Given the description of an element on the screen output the (x, y) to click on. 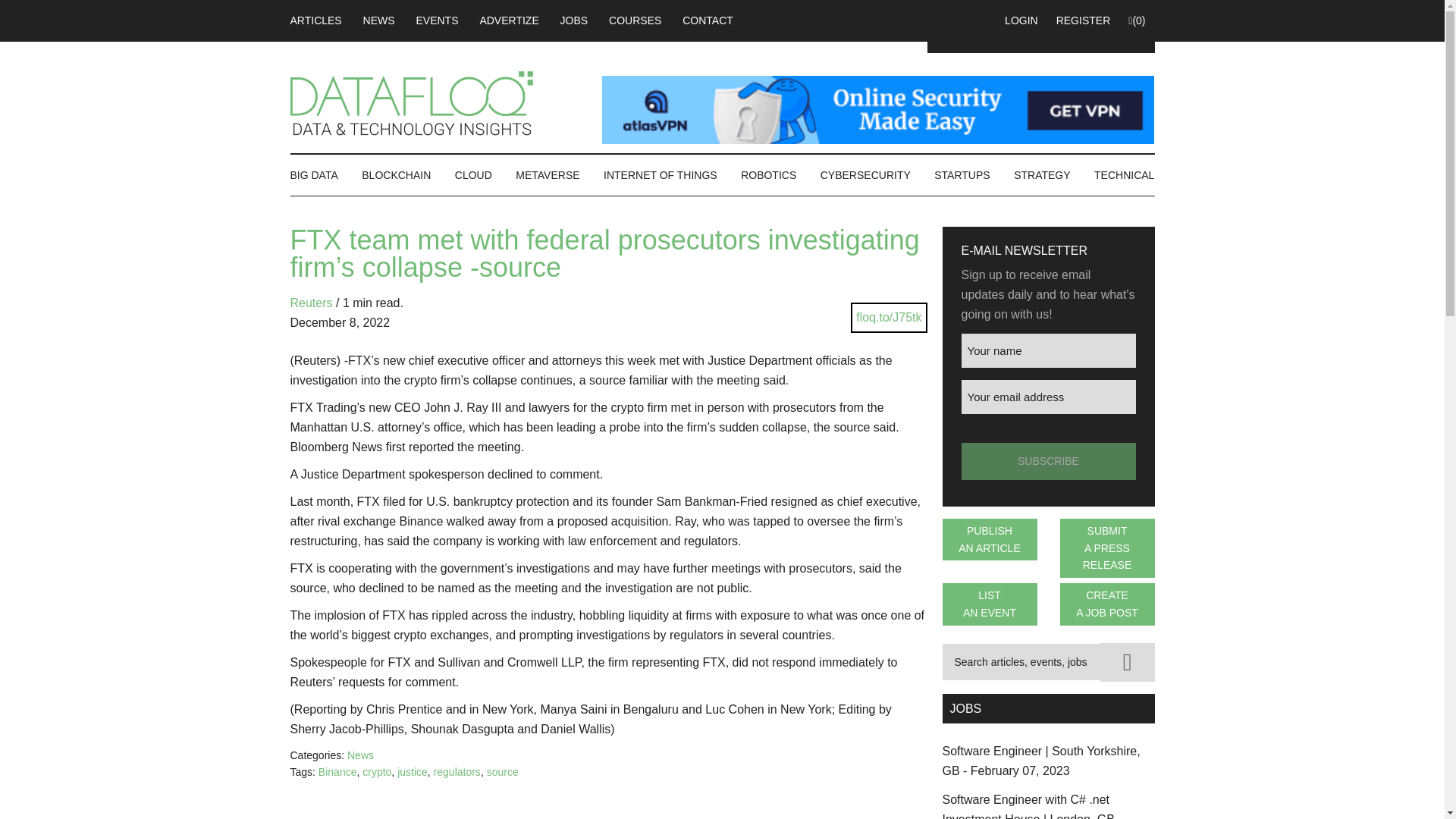
CONTACT (707, 20)
Subscribe (1047, 461)
RSS (954, 19)
LINKEDIN (925, 20)
METAVERSE (547, 174)
CLOUD (472, 174)
FACEBOOK (896, 20)
BIG DATA (317, 174)
LINKEDIN (925, 19)
NEWS (378, 20)
COURSES (634, 20)
ADVERTIZE (508, 20)
BLOCKCHAIN (395, 174)
TWITTER (982, 20)
